Given the description of an element on the screen output the (x, y) to click on. 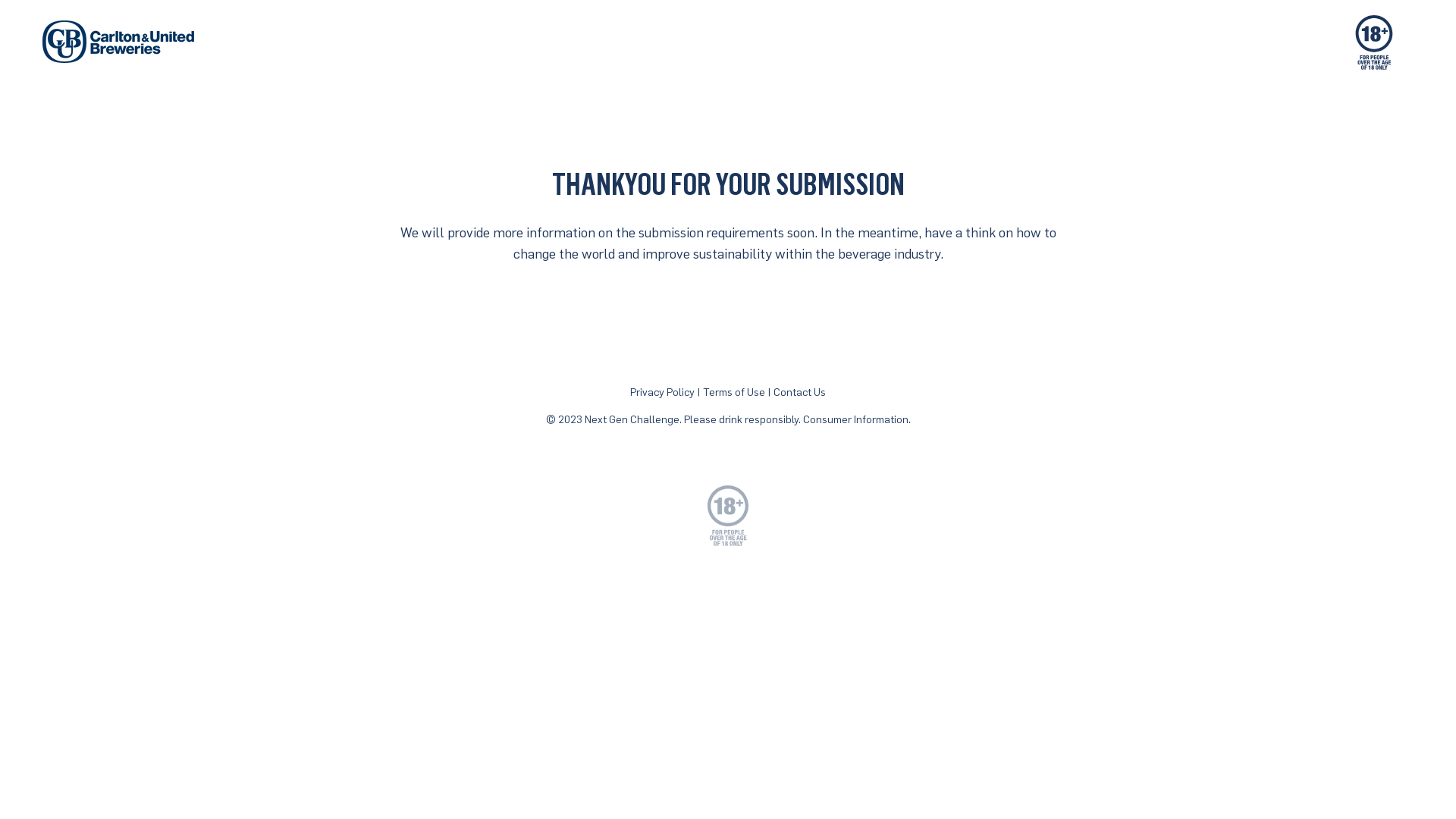
Next Gen Challenge. Please drink responsibly. Element type: text (691, 418)
Consumer Information Element type: text (854, 418)
Privacy Policy Element type: text (662, 391)
Contact Us Element type: text (799, 391)
Terms of Use | Element type: text (737, 391)
